Given the description of an element on the screen output the (x, y) to click on. 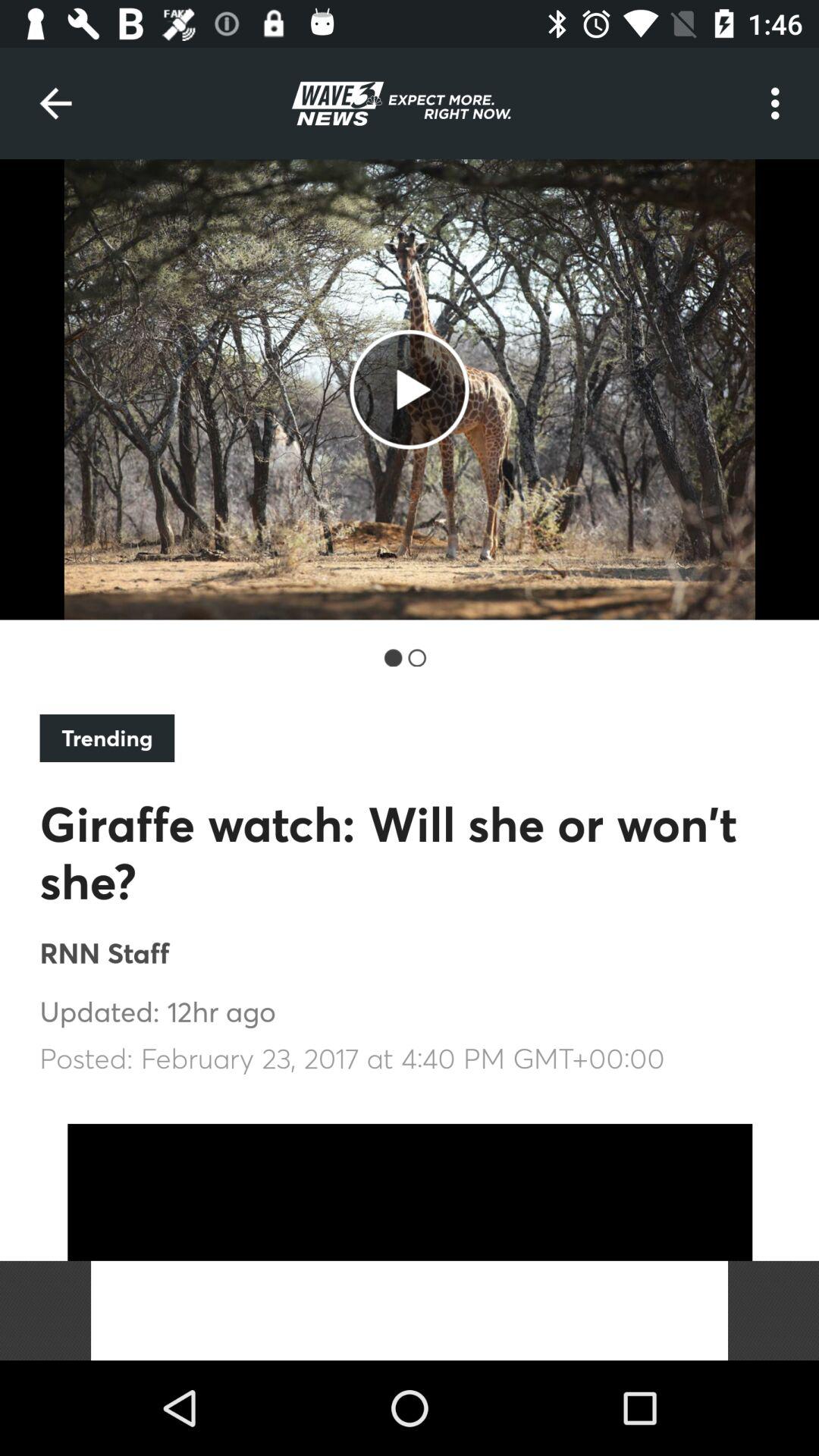
select trending on the left (106, 738)
